Given the description of an element on the screen output the (x, y) to click on. 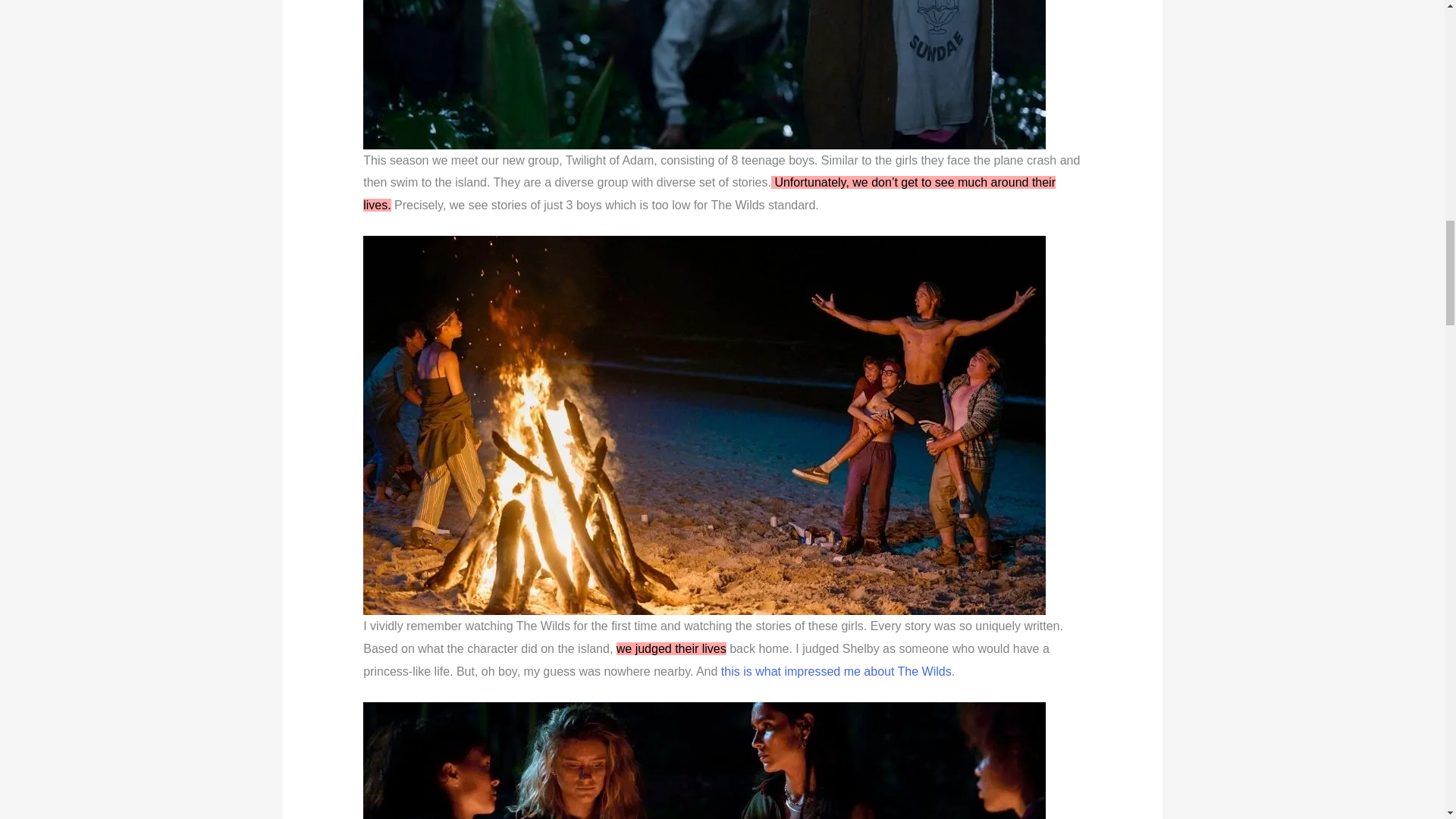
this is what impressed me about The Wilds (836, 671)
